Given the description of an element on the screen output the (x, y) to click on. 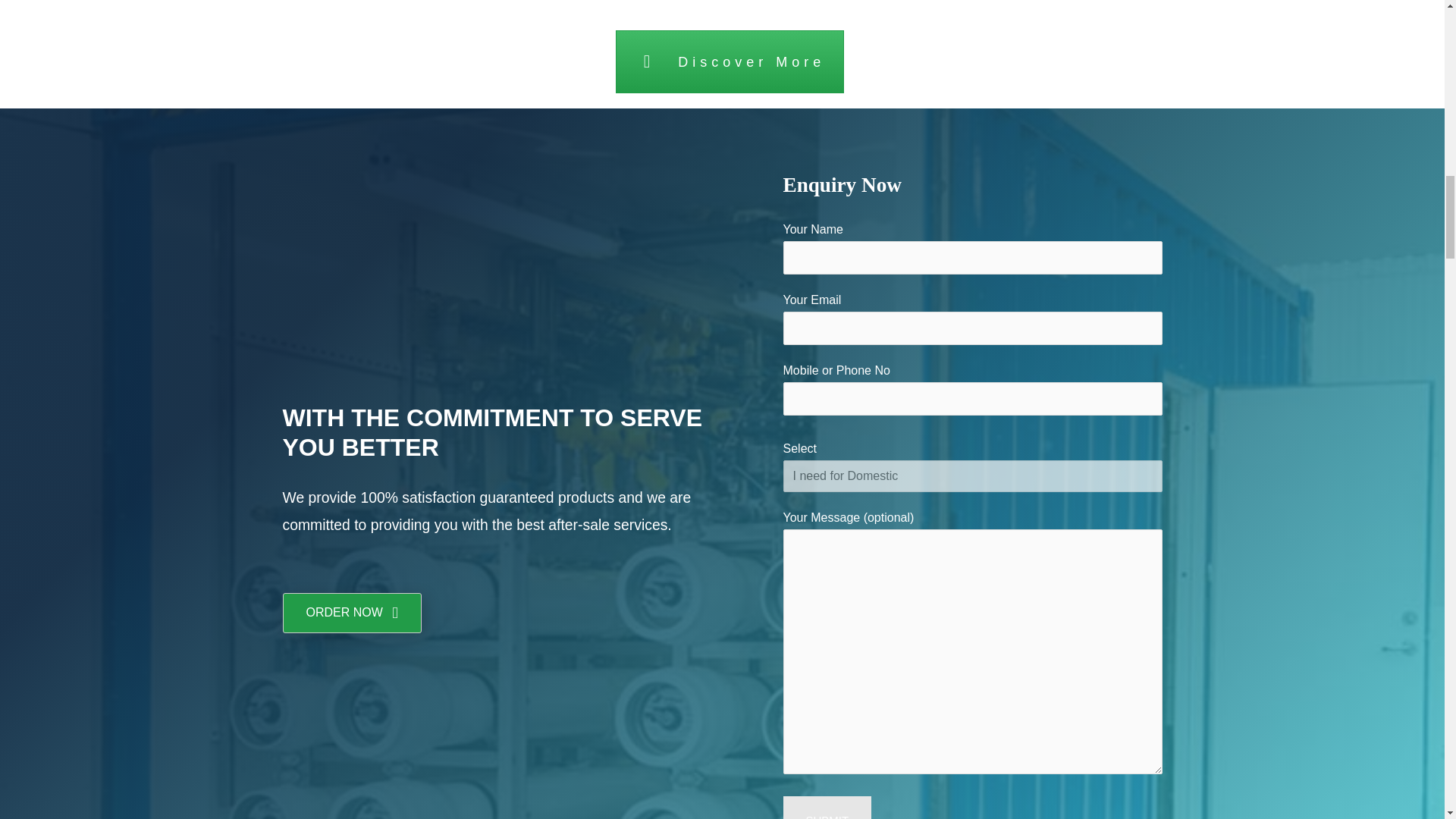
Submit (826, 807)
